Given the description of an element on the screen output the (x, y) to click on. 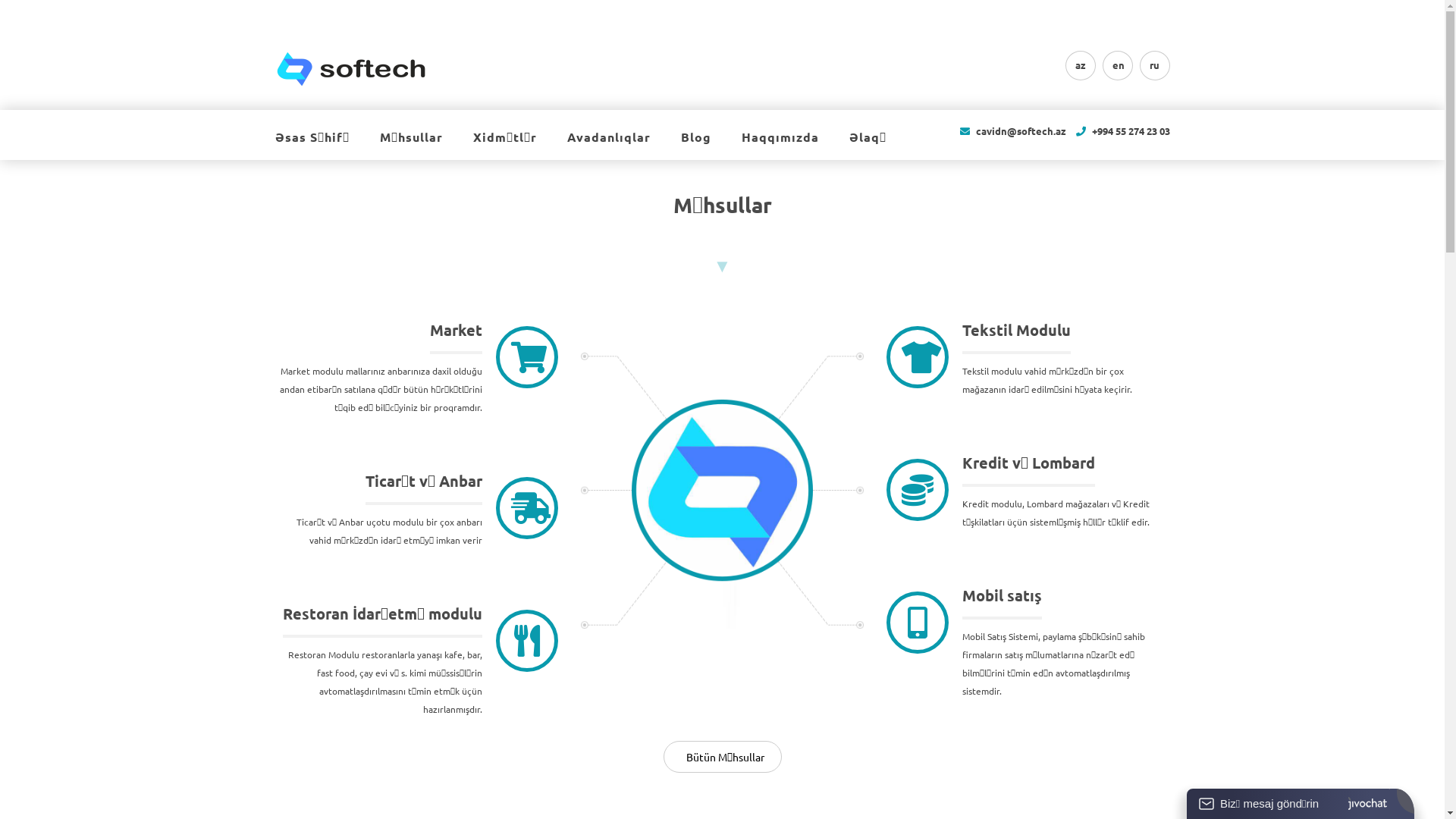
cavidn@softech.az Element type: text (1020, 130)
Blog Element type: text (695, 145)
en Element type: text (1117, 65)
ru Element type: text (1154, 65)
az Element type: text (1079, 65)
